Given the description of an element on the screen output the (x, y) to click on. 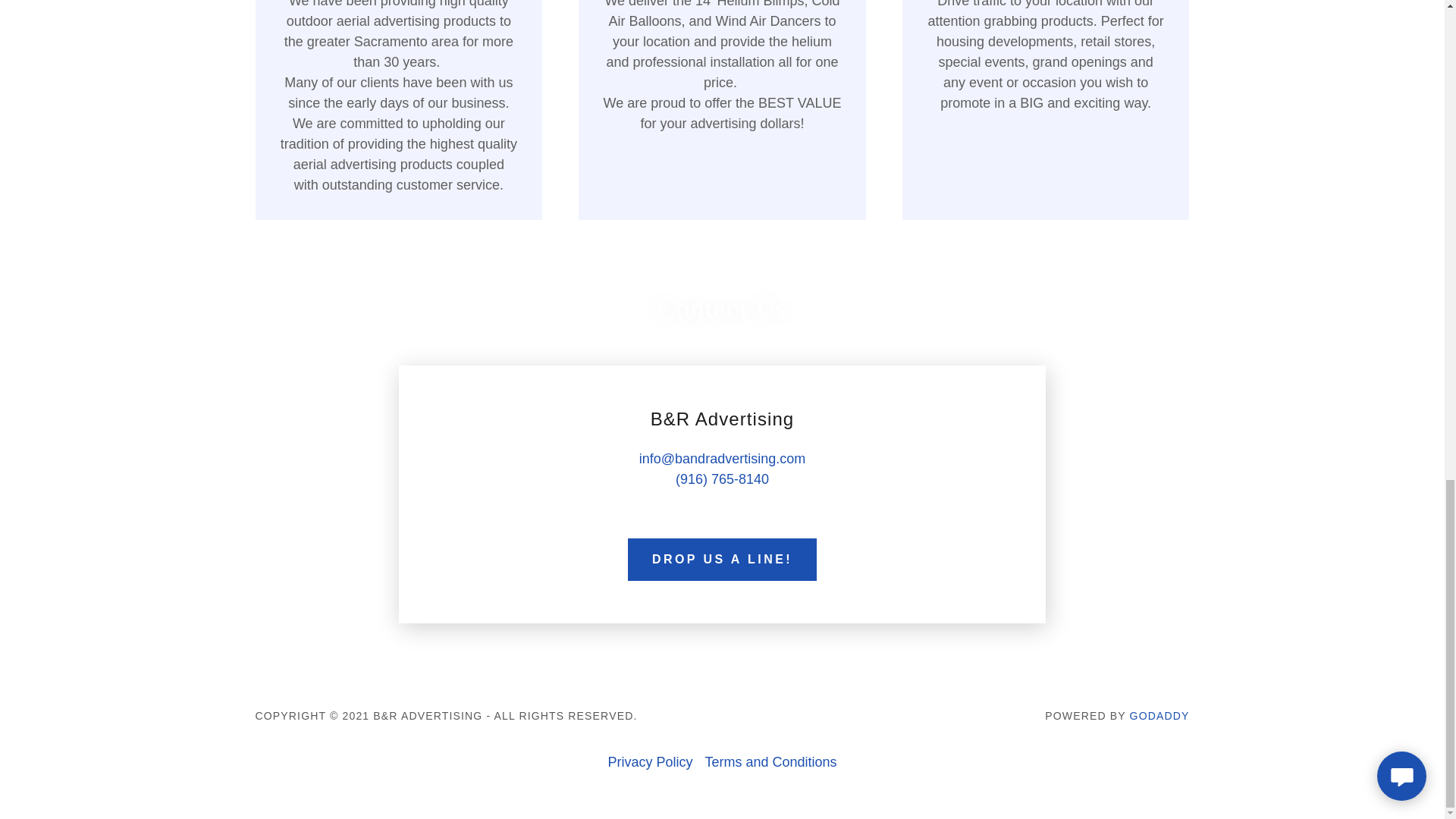
GODADDY (1159, 715)
Privacy Policy (649, 762)
DROP US A LINE! (721, 559)
Terms and Conditions (770, 762)
